Given the description of an element on the screen output the (x, y) to click on. 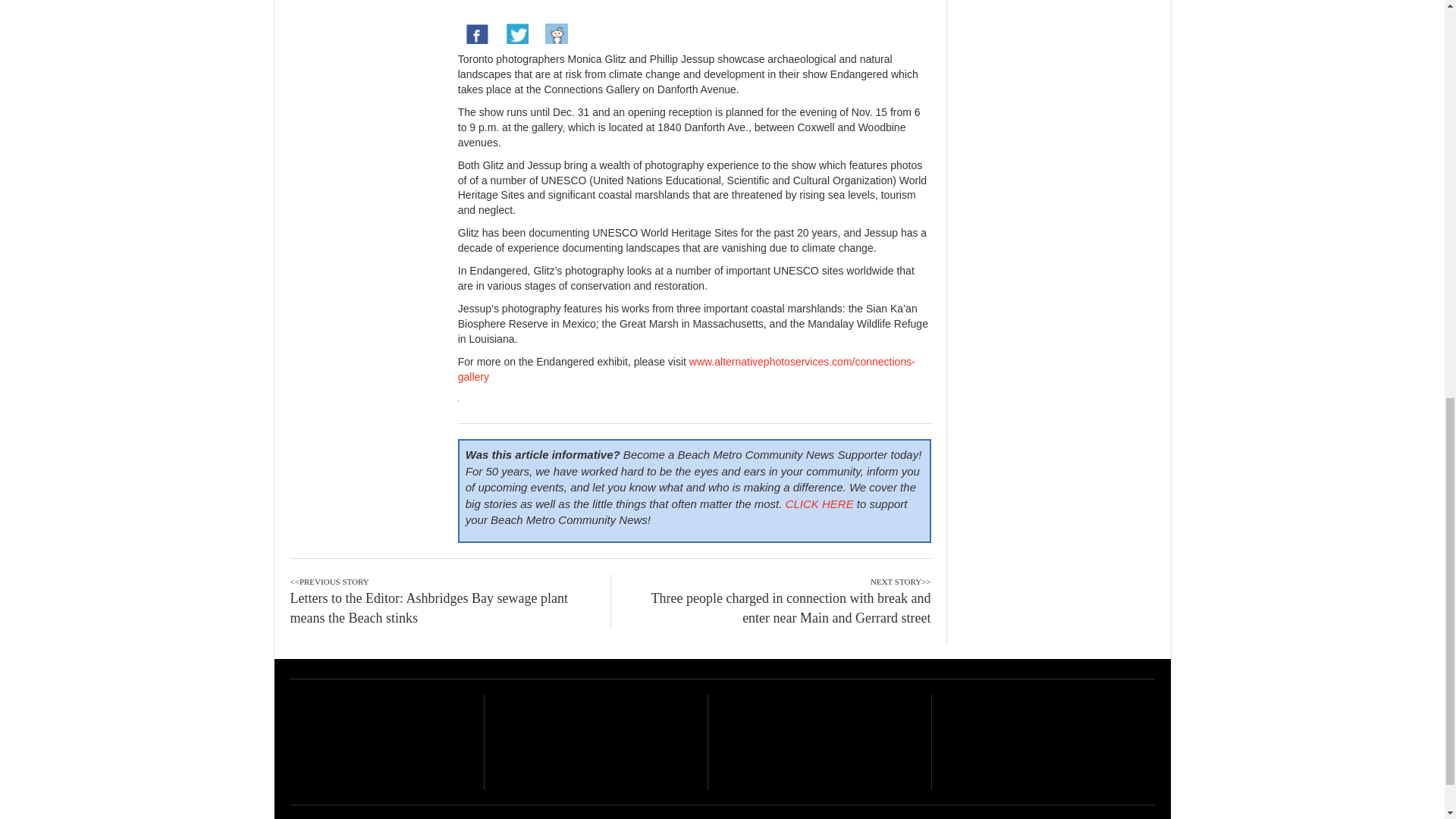
Share On Facebook (477, 34)
Share On Reddit (556, 34)
Share On Twitter (516, 34)
